Given the description of an element on the screen output the (x, y) to click on. 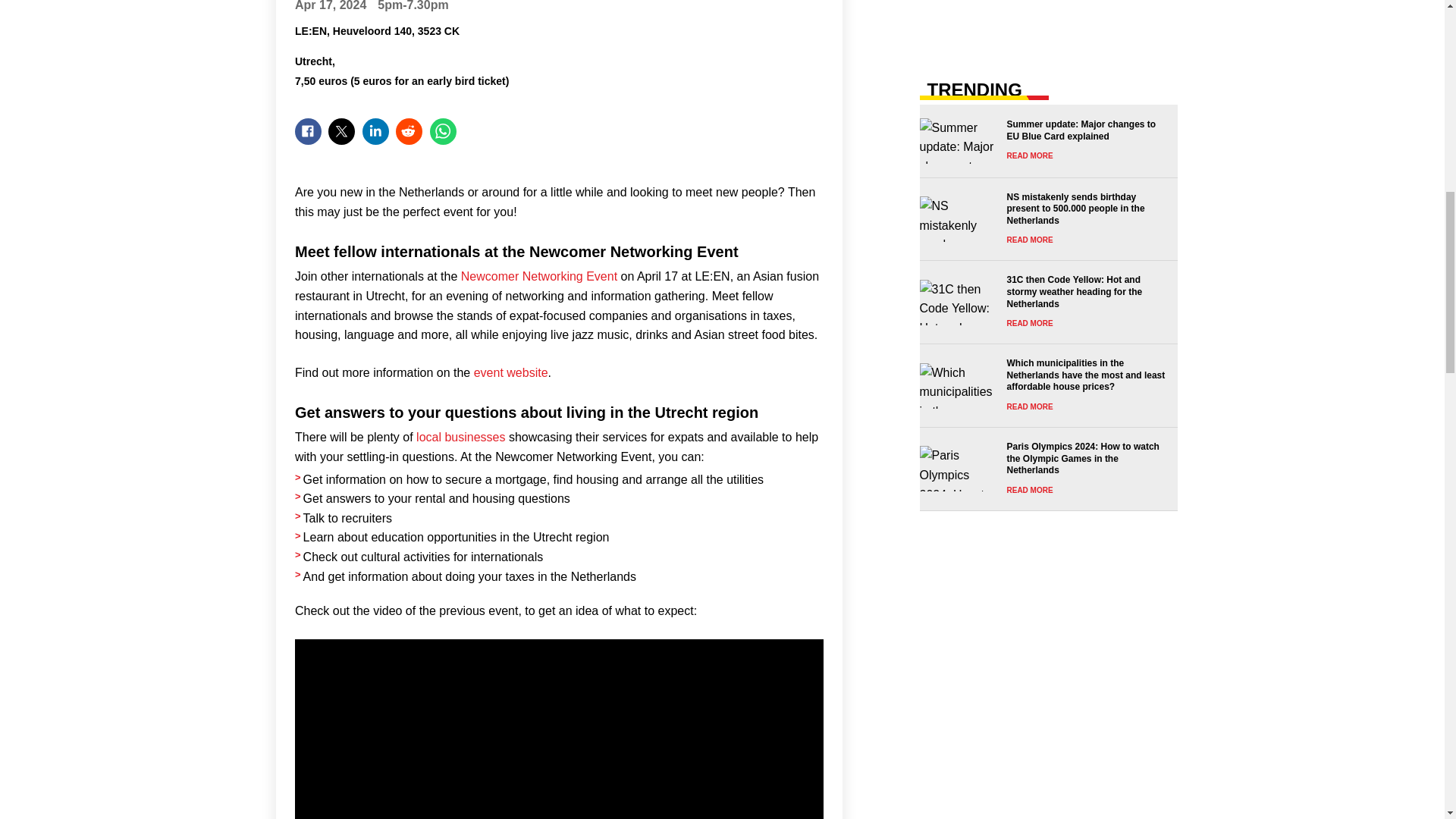
3rd party ad content (1047, 19)
Summer update: Major changes to EU Blue Card explained (1043, 140)
